Given the description of an element on the screen output the (x, y) to click on. 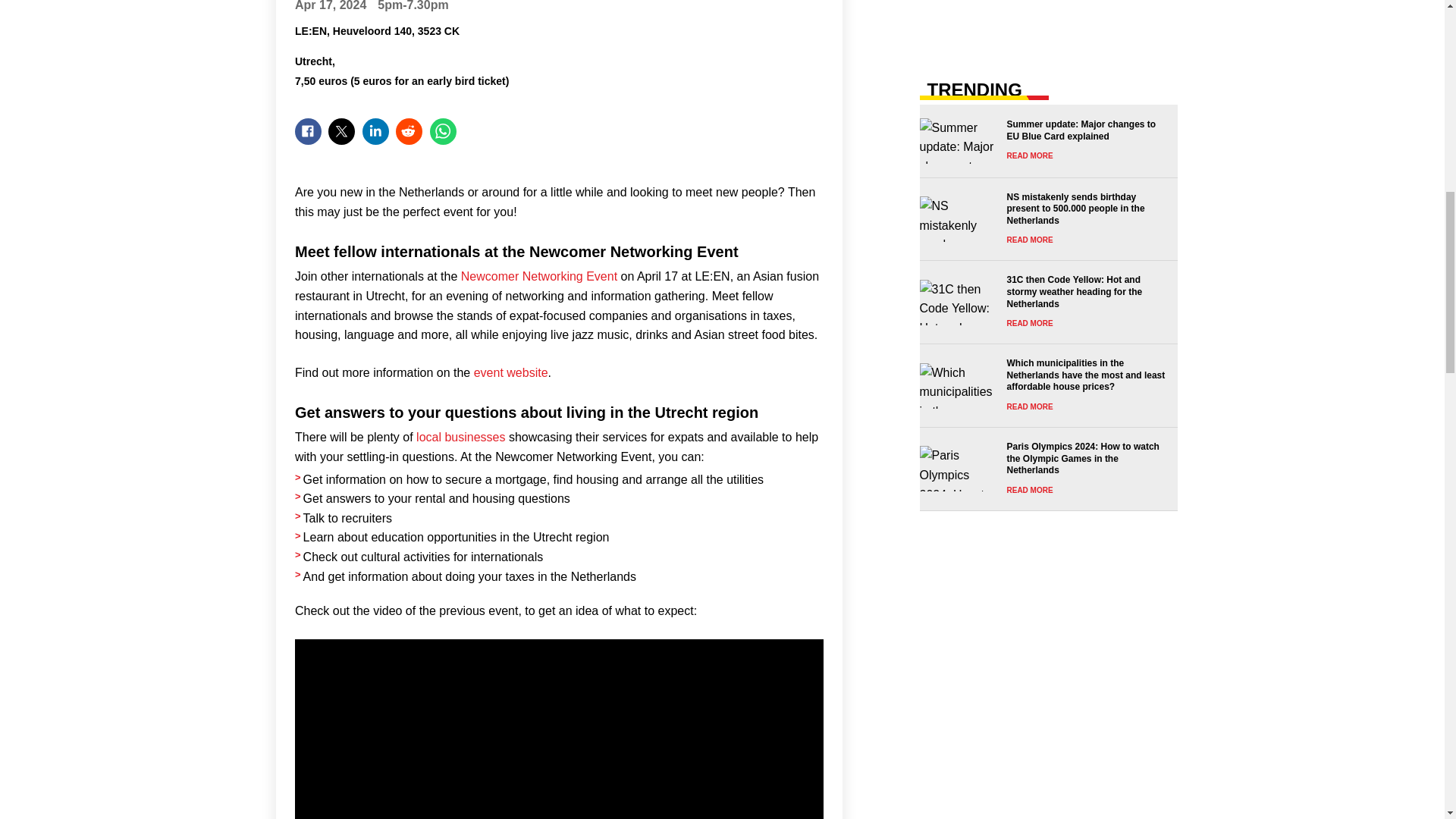
3rd party ad content (1047, 19)
Summer update: Major changes to EU Blue Card explained (1043, 140)
